Given the description of an element on the screen output the (x, y) to click on. 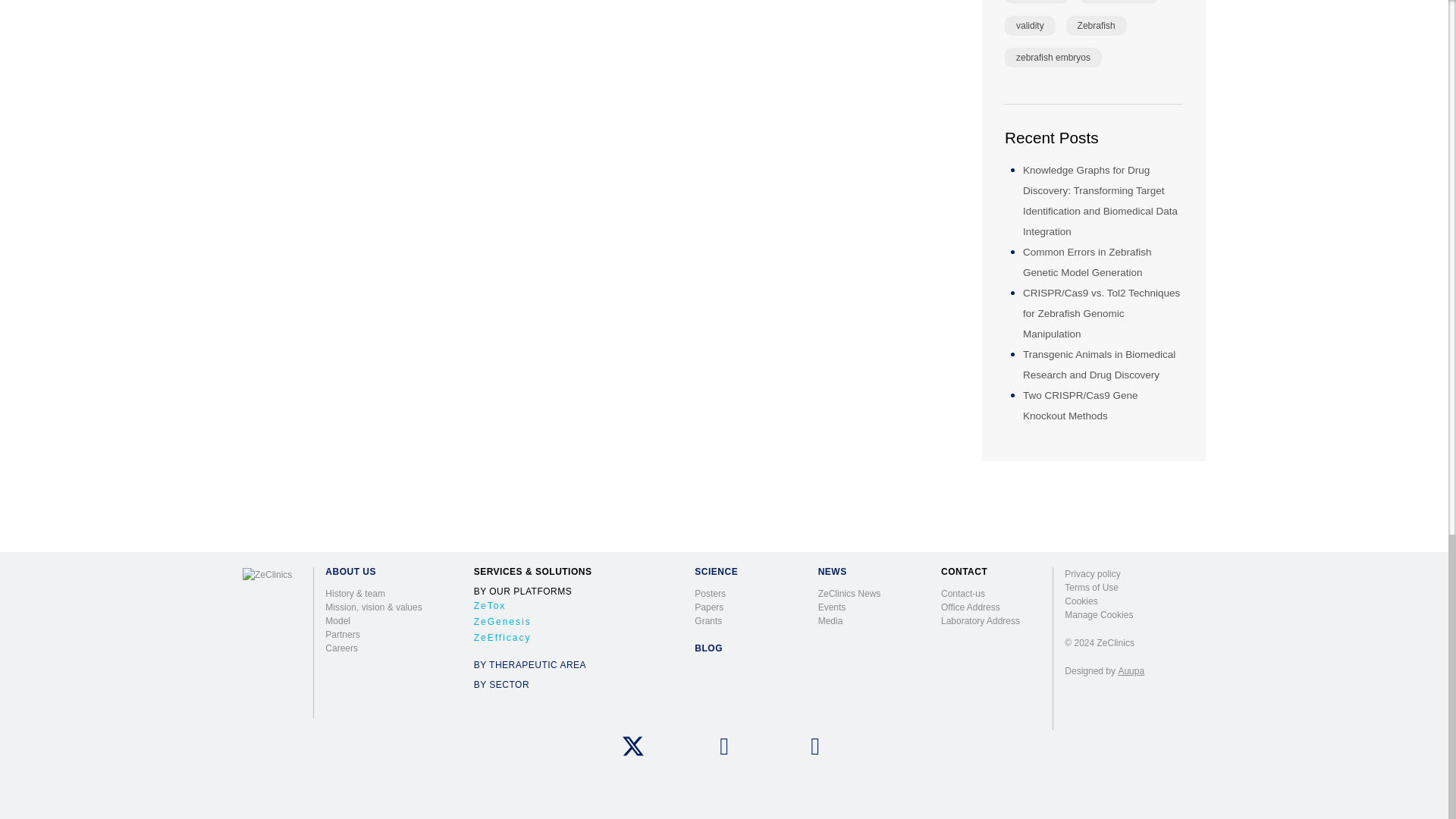
YouTube (815, 746)
Linkedin (723, 746)
Twitter (633, 746)
ZeClinics (272, 574)
